Given the description of an element on the screen output the (x, y) to click on. 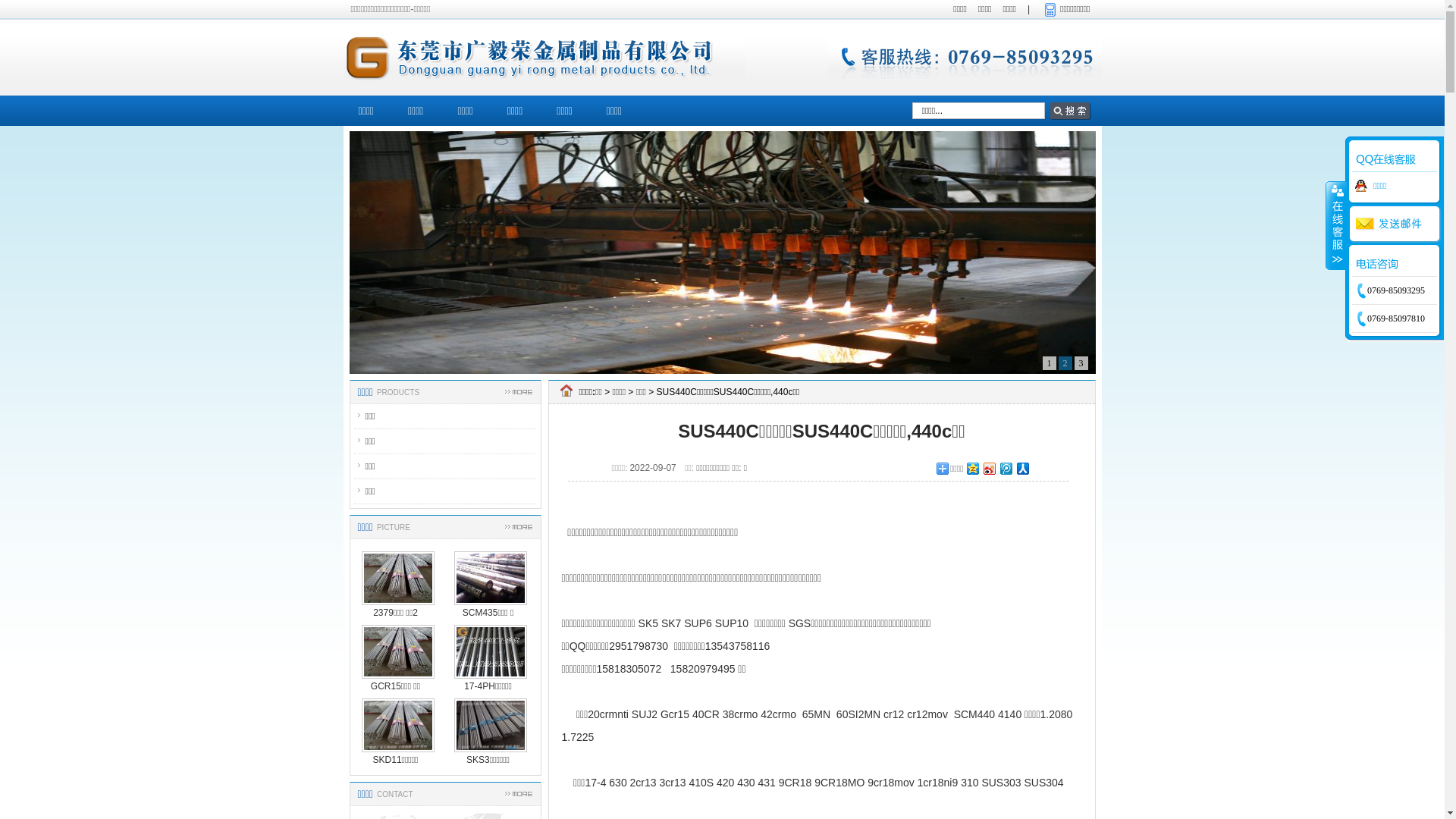
| Element type: text (1028, 9)
